Given the description of an element on the screen output the (x, y) to click on. 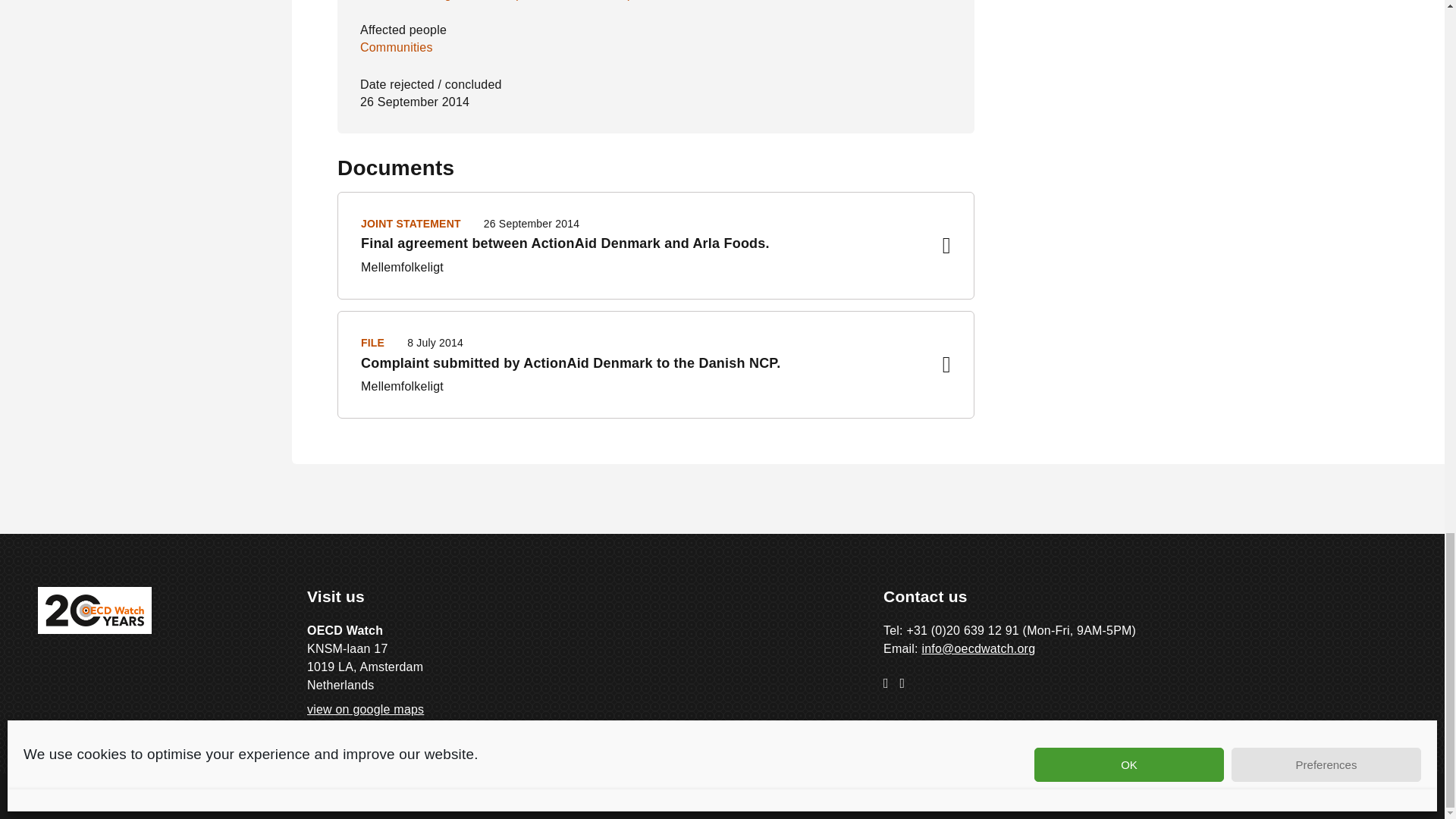
OECD Watch (94, 610)
